Given the description of an element on the screen output the (x, y) to click on. 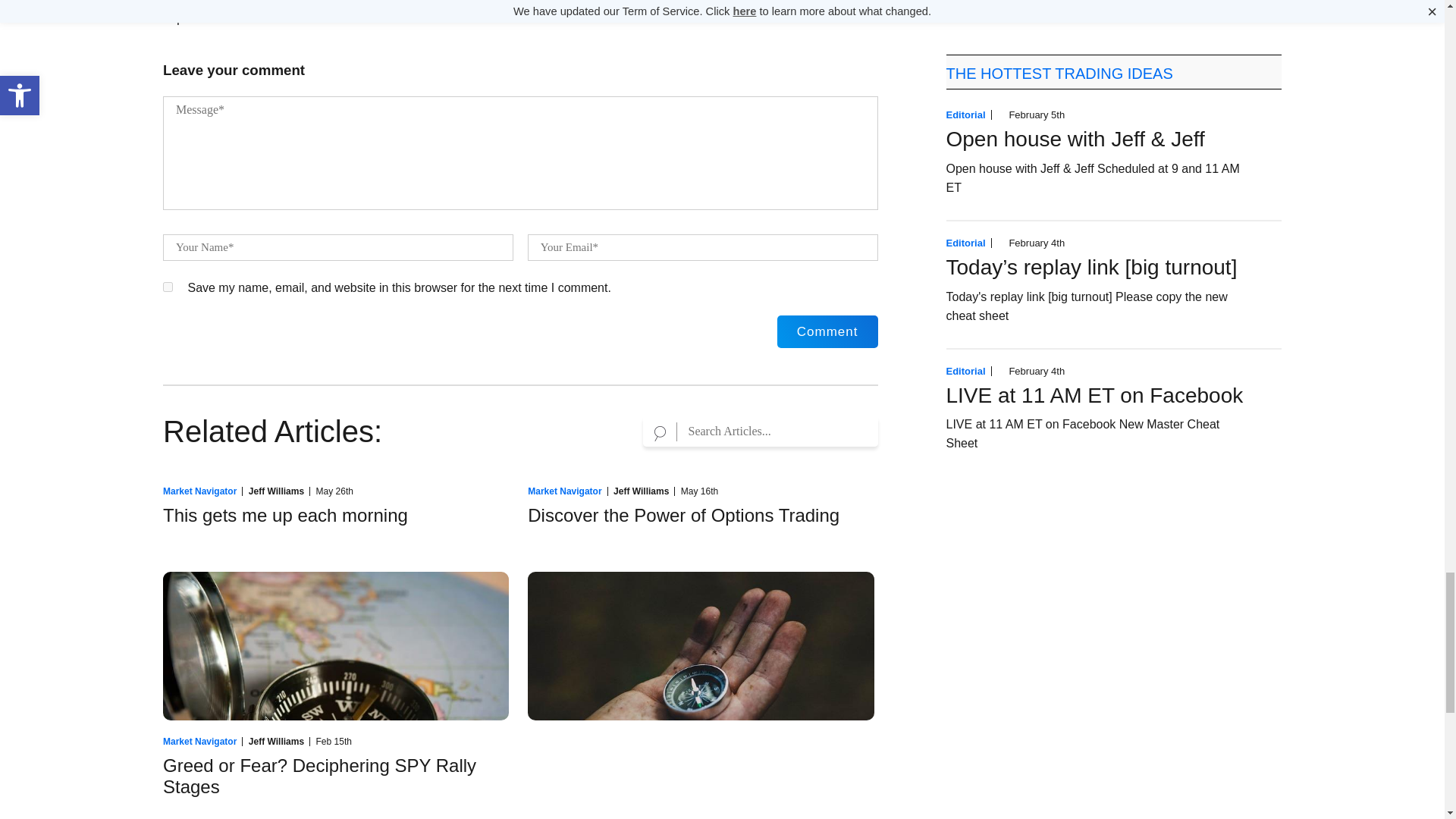
Discover the Power of Options Trading (683, 515)
Comment (827, 331)
Market Navigator (199, 491)
Jeff Williams (276, 491)
Comment (827, 331)
Jeff Williams (640, 491)
This gets me up each morning (285, 515)
simply click here (400, 3)
Market Navigator (564, 491)
yes (168, 286)
